Given the description of an element on the screen output the (x, y) to click on. 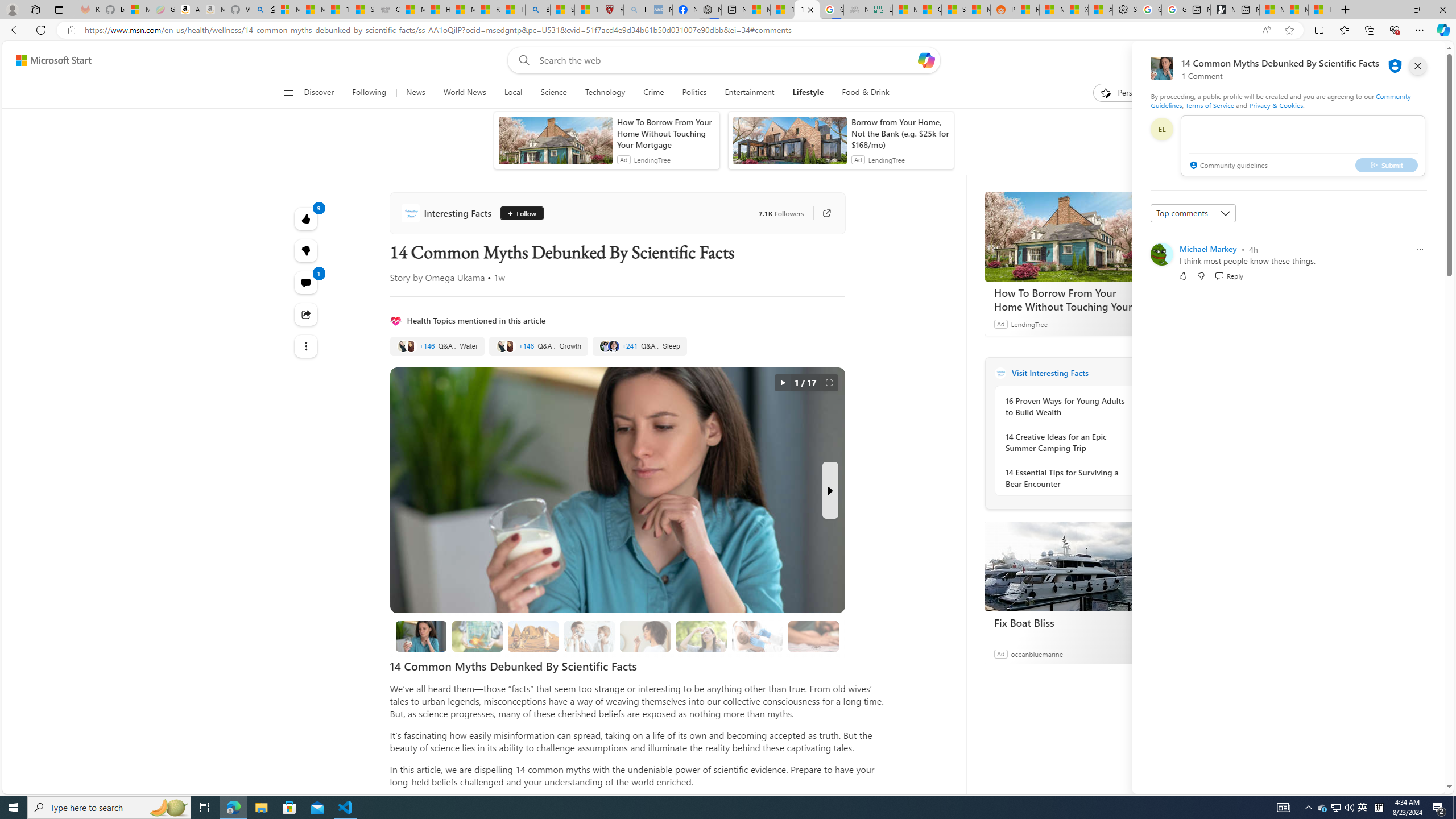
Class: progress (813, 633)
14 Essential Tips for Surviving a Bear Encounter (1066, 477)
Recipes - MSN (487, 9)
Fix Boat Bliss (1070, 566)
Personalize (1128, 92)
5. Childhood Was High-Risk (756, 636)
Enter your search term (726, 59)
9 (305, 250)
